Given the description of an element on the screen output the (x, y) to click on. 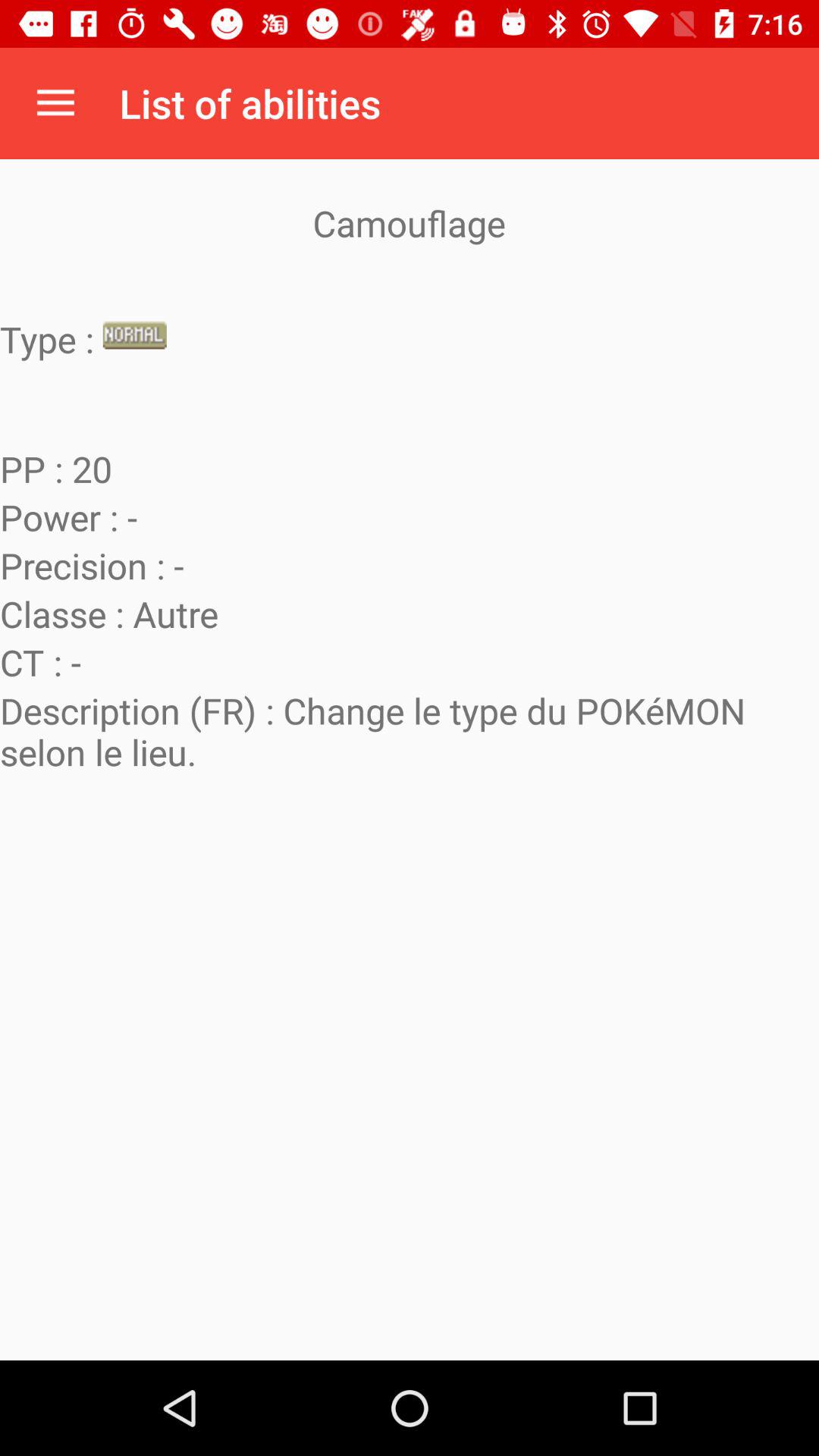
open the app to the left of list of abilities (55, 103)
